Given the description of an element on the screen output the (x, y) to click on. 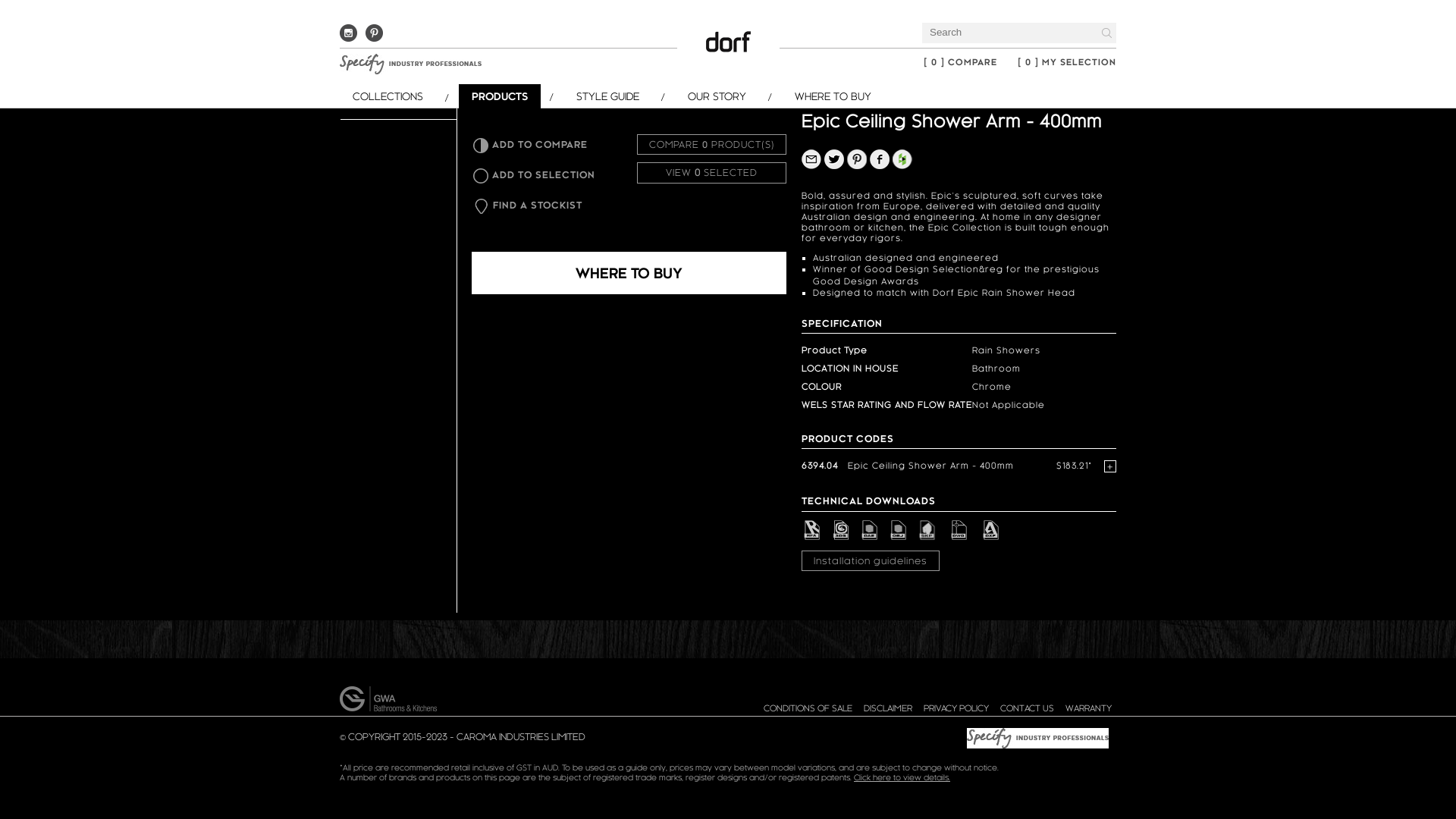
Click here to view details. Element type: text (901, 776)
COMPARE 0
PRODUCT(S) Element type: text (711, 144)
PRIVACY POLICY Element type: text (955, 707)
VIEW 0
SELECTED Element type: text (711, 172)
STYLE GUIDE Element type: text (620, 96)
WARRANTY Element type: text (1088, 707)
COLLECTIONS Element type: text (400, 96)
ADD TO SELECTION Element type: text (546, 179)
WHERE TO BUY Element type: text (628, 272)
Bathroom Accessories Element type: text (392, 60)
[ 0 ] COMPARE Element type: text (960, 61)
EPIC CEILING SHOWER ARM 400MM Element type: text (735, 15)
CONTACT US Element type: text (1027, 707)
FIND A STOCKIST Element type: text (546, 209)
OUR STORY Element type: text (729, 96)
Installation guidelines Element type: text (870, 560)
DISCLAIMER Element type: text (887, 707)
WHERE TO BUY Element type: text (843, 96)
CONDITIONS OF SALE Element type: text (807, 707)
EPIC Element type: text (641, 15)
SHOWERS Element type: text (594, 15)
[ 0 ] MY SELECTION Element type: text (1066, 61)
PRODUCTS Element type: text (512, 96)
HOME Element type: text (483, 15)
ADD TO COMPARE Element type: text (546, 149)
PRODUCTS Element type: text (535, 15)
